Given the description of an element on the screen output the (x, y) to click on. 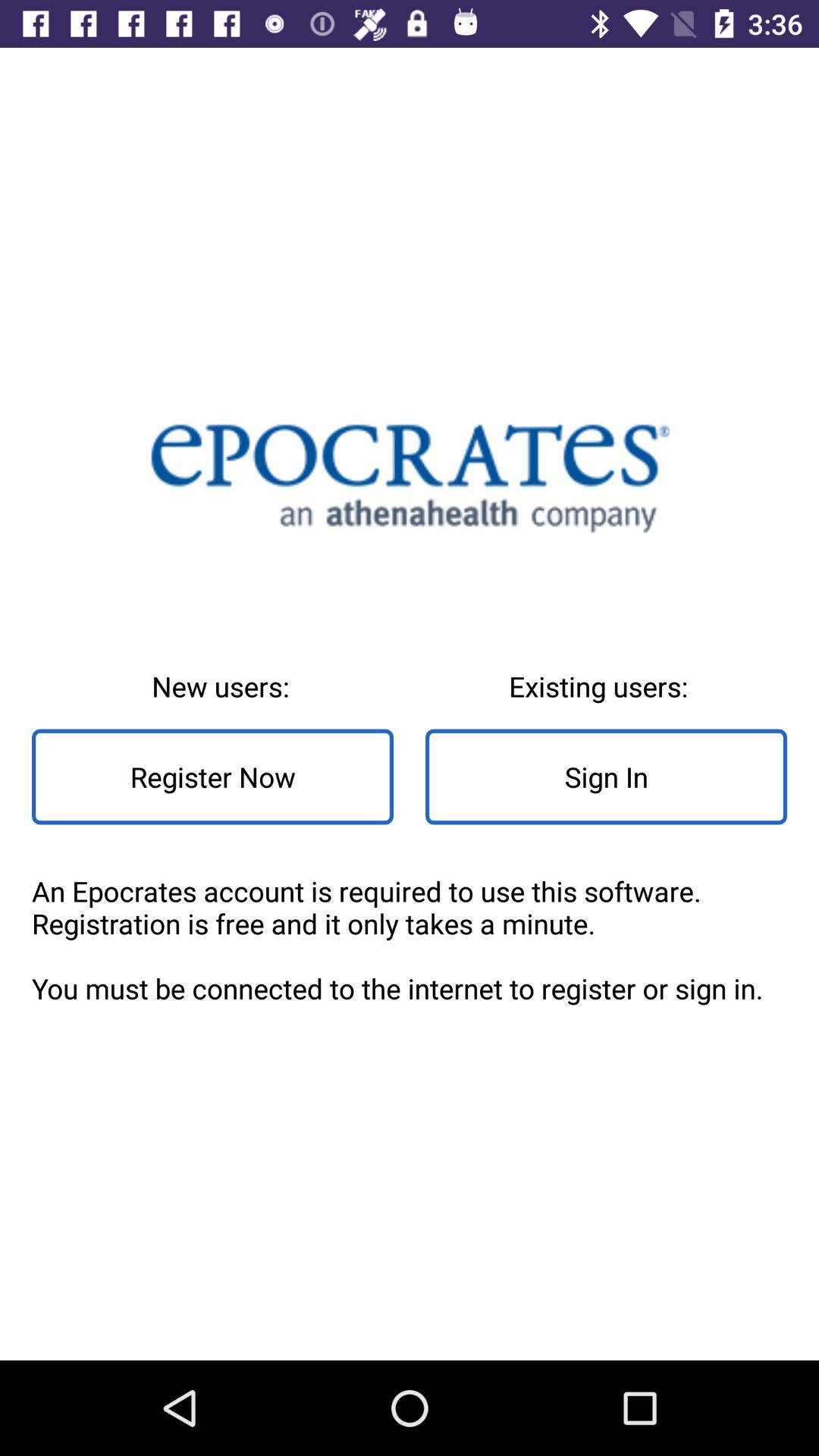
open the item below existing users: item (606, 776)
